Given the description of an element on the screen output the (x, y) to click on. 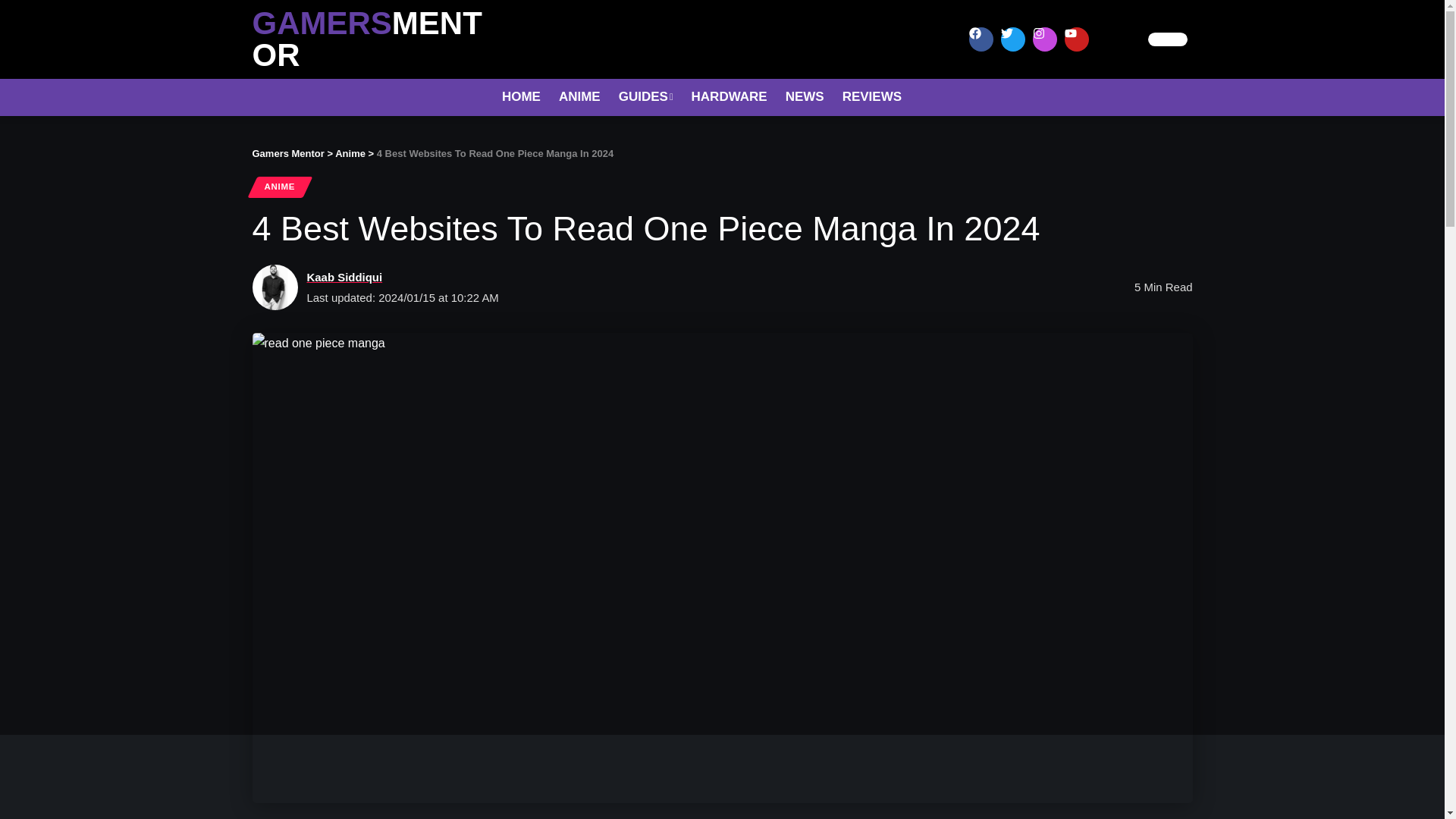
Go to Gamers Mentor. (287, 153)
GUIDES (646, 97)
Kaab Siddiqui (343, 276)
Gamers Mentor (287, 153)
Anime (349, 153)
HARDWARE (729, 97)
REVIEWS (871, 97)
GAMERSMENTOR (366, 38)
HOME (521, 97)
Go to the Anime Category archives. (349, 153)
ANIME (580, 97)
ANIME (279, 186)
NEWS (804, 97)
